Given the description of an element on the screen output the (x, y) to click on. 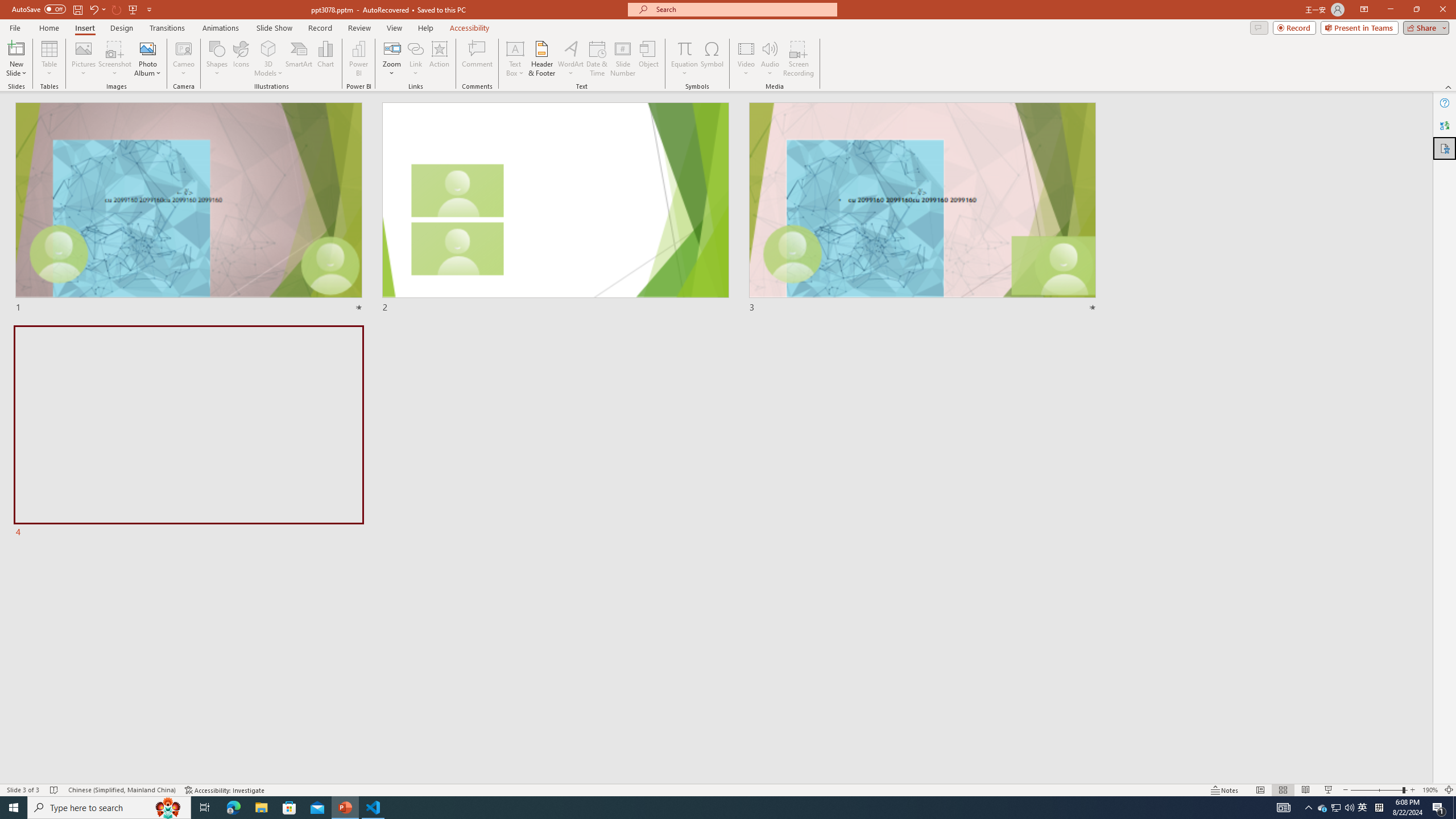
Link (415, 48)
